Given the description of an element on the screen output the (x, y) to click on. 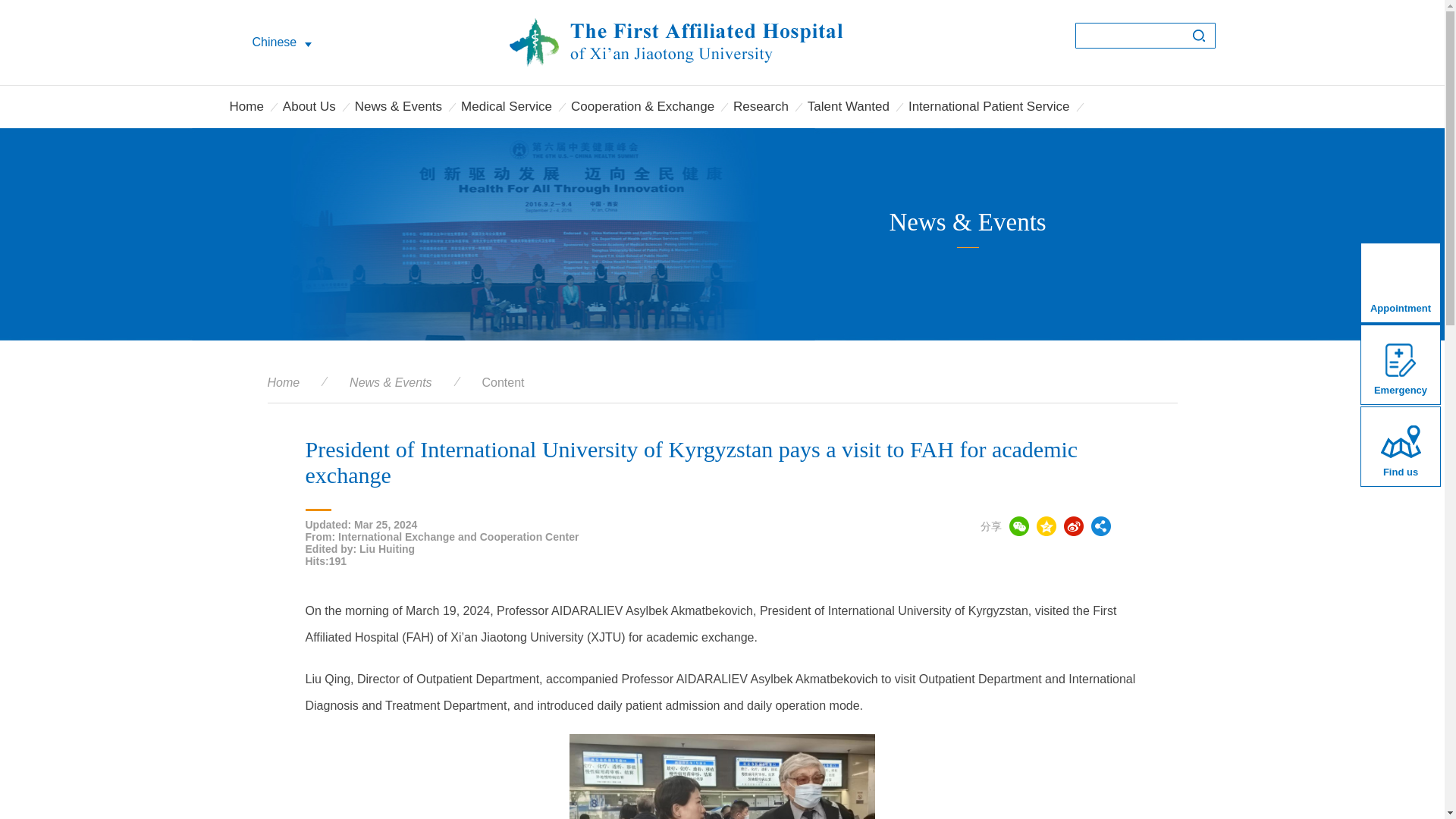
International Exchange (294, 148)
Research (761, 106)
About Us (309, 106)
Chinese (281, 42)
Emergency (1400, 364)
Find us (1400, 446)
Medical Service (506, 106)
Appointment (1400, 282)
Talent Wanted (848, 106)
International Patient Service (989, 106)
